Given the description of an element on the screen output the (x, y) to click on. 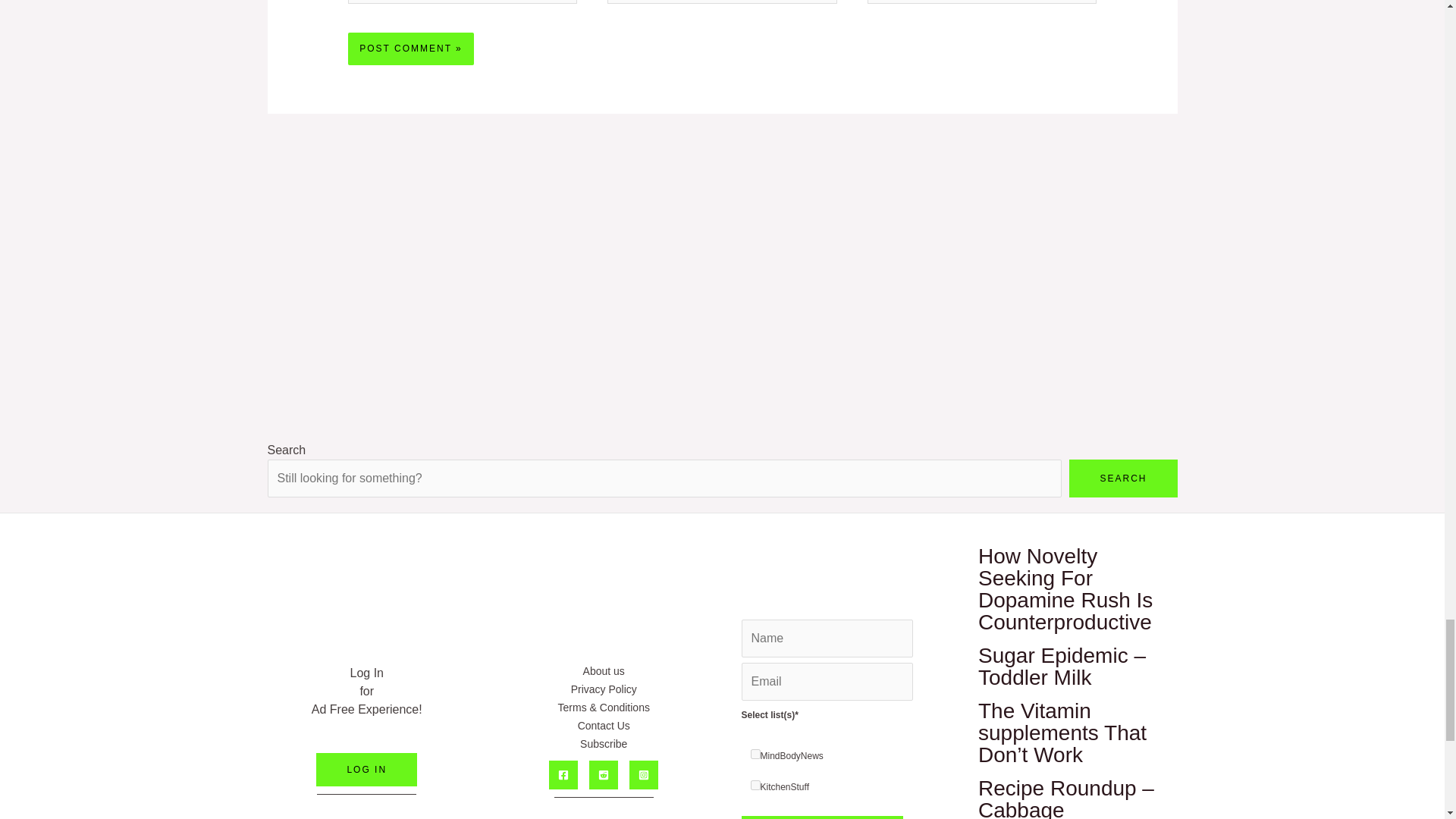
Subscribe Now! (821, 817)
77c5a55e9619 (755, 754)
eca8be83bbde (755, 785)
